Given the description of an element on the screen output the (x, y) to click on. 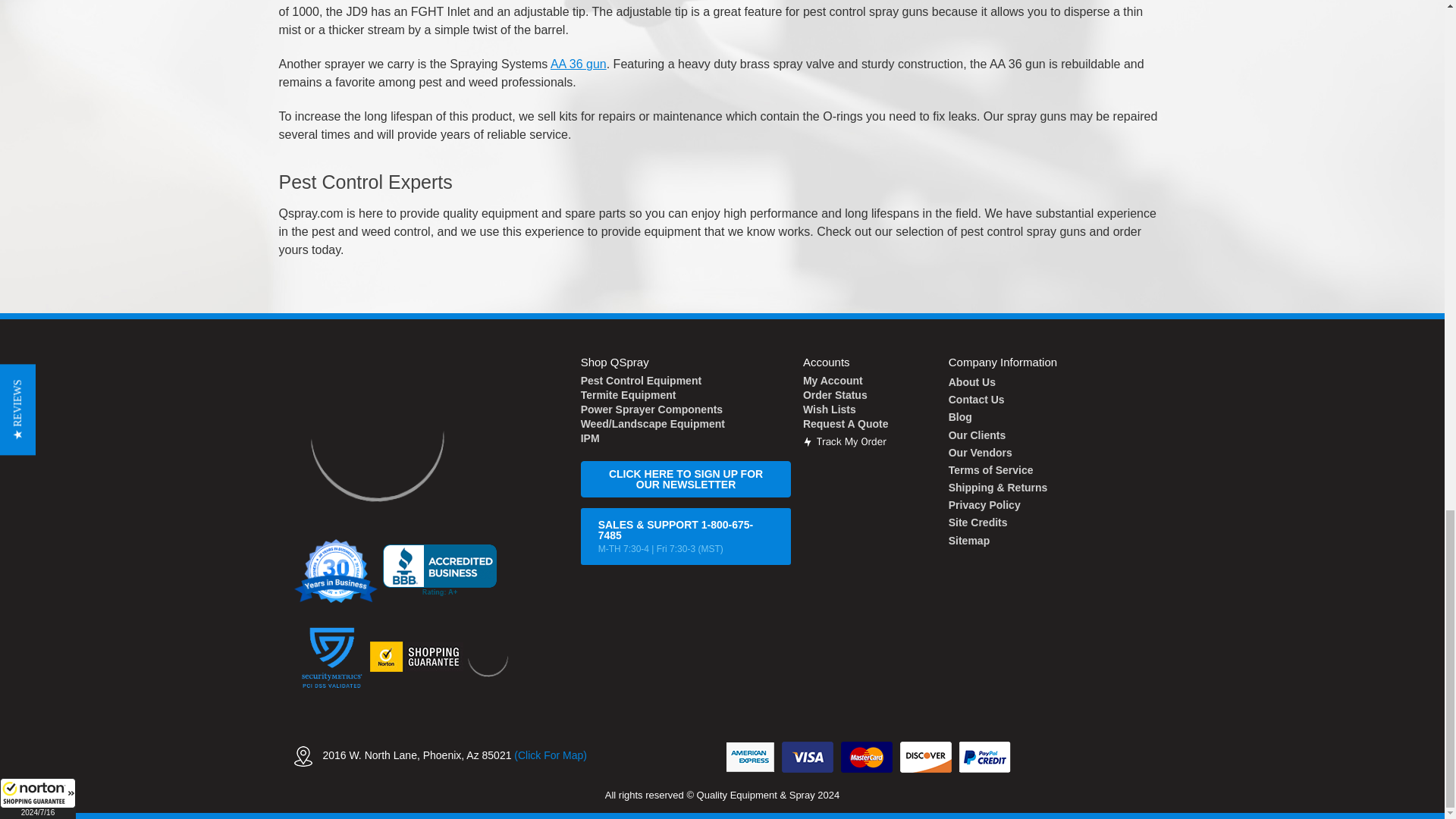
QSpray.com (377, 433)
